Given the description of an element on the screen output the (x, y) to click on. 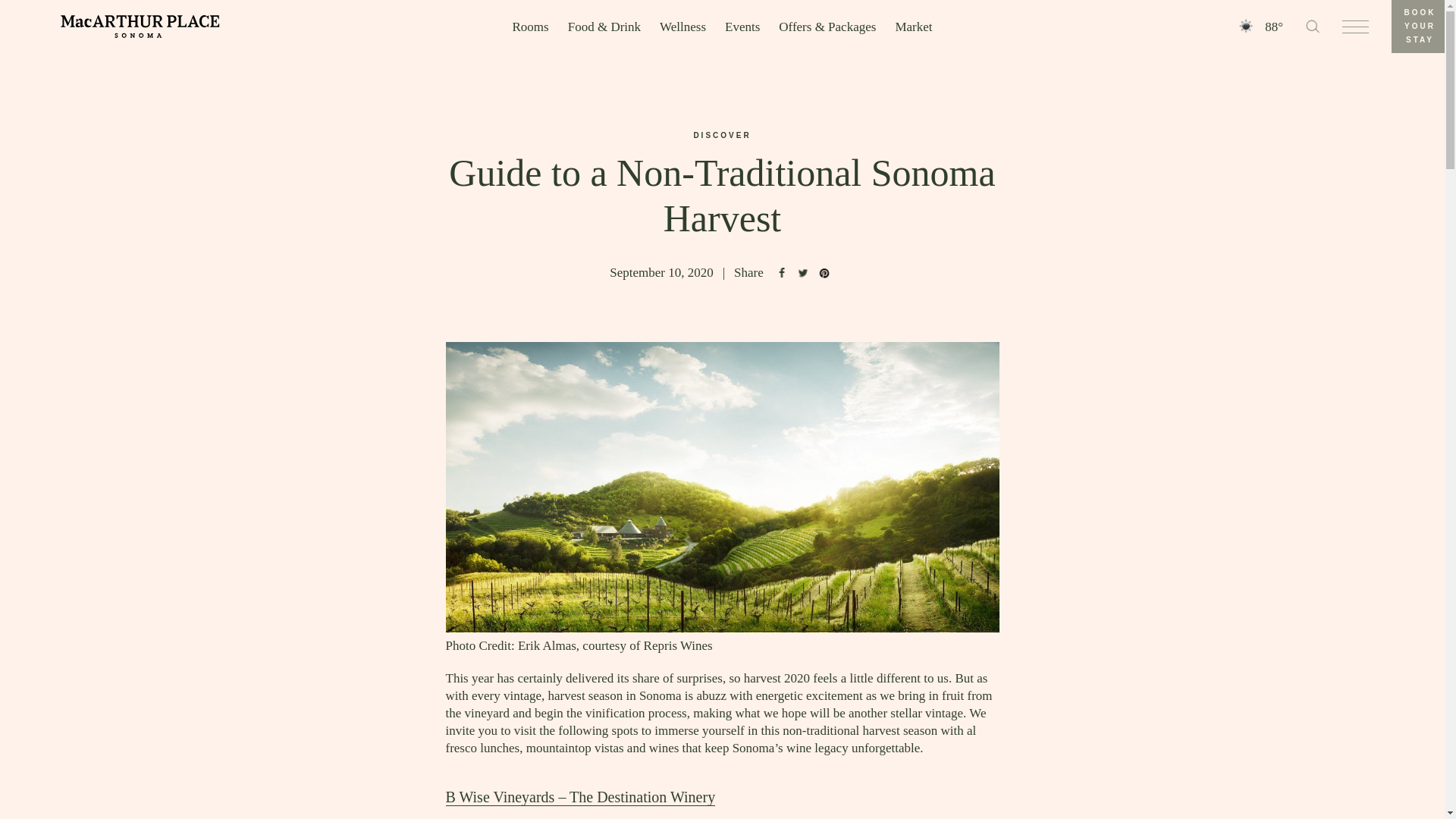
Visit us on pinterest (823, 271)
Visit us on twitter (802, 271)
Events (742, 27)
Wellness (682, 27)
Rooms (530, 27)
Visit us on facebook (781, 271)
Market (913, 27)
